Given the description of an element on the screen output the (x, y) to click on. 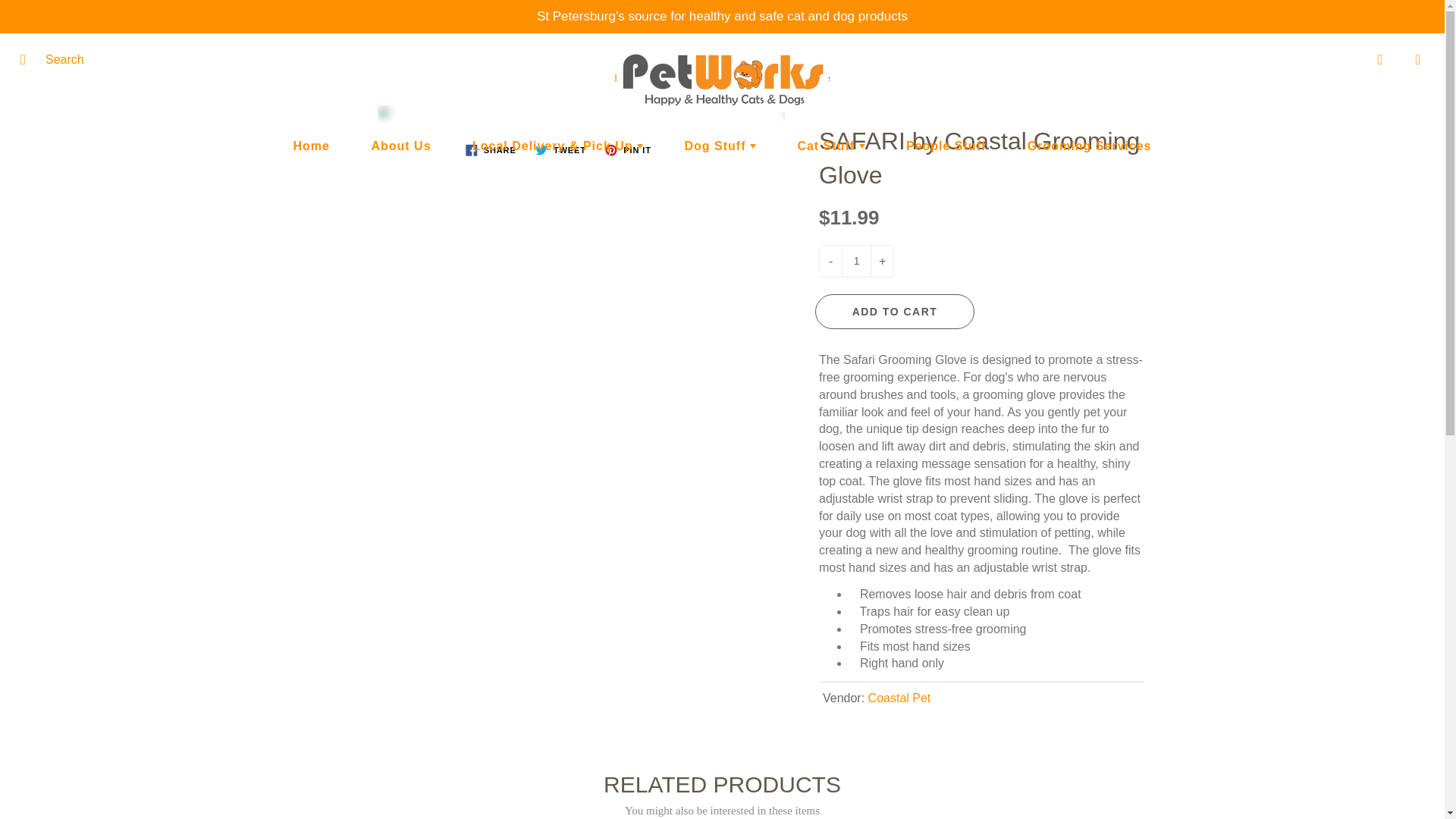
Search (28, 59)
Pin on Pinterest (627, 149)
Grooming Services (1089, 146)
SAFARI by Coastal Grooming Glove (569, 111)
1 (855, 260)
Dog Stuff (719, 146)
People Stuff (945, 146)
Tweet on Twitter (560, 149)
Home (312, 146)
You have 0 items in your cart (1417, 59)
